Given the description of an element on the screen output the (x, y) to click on. 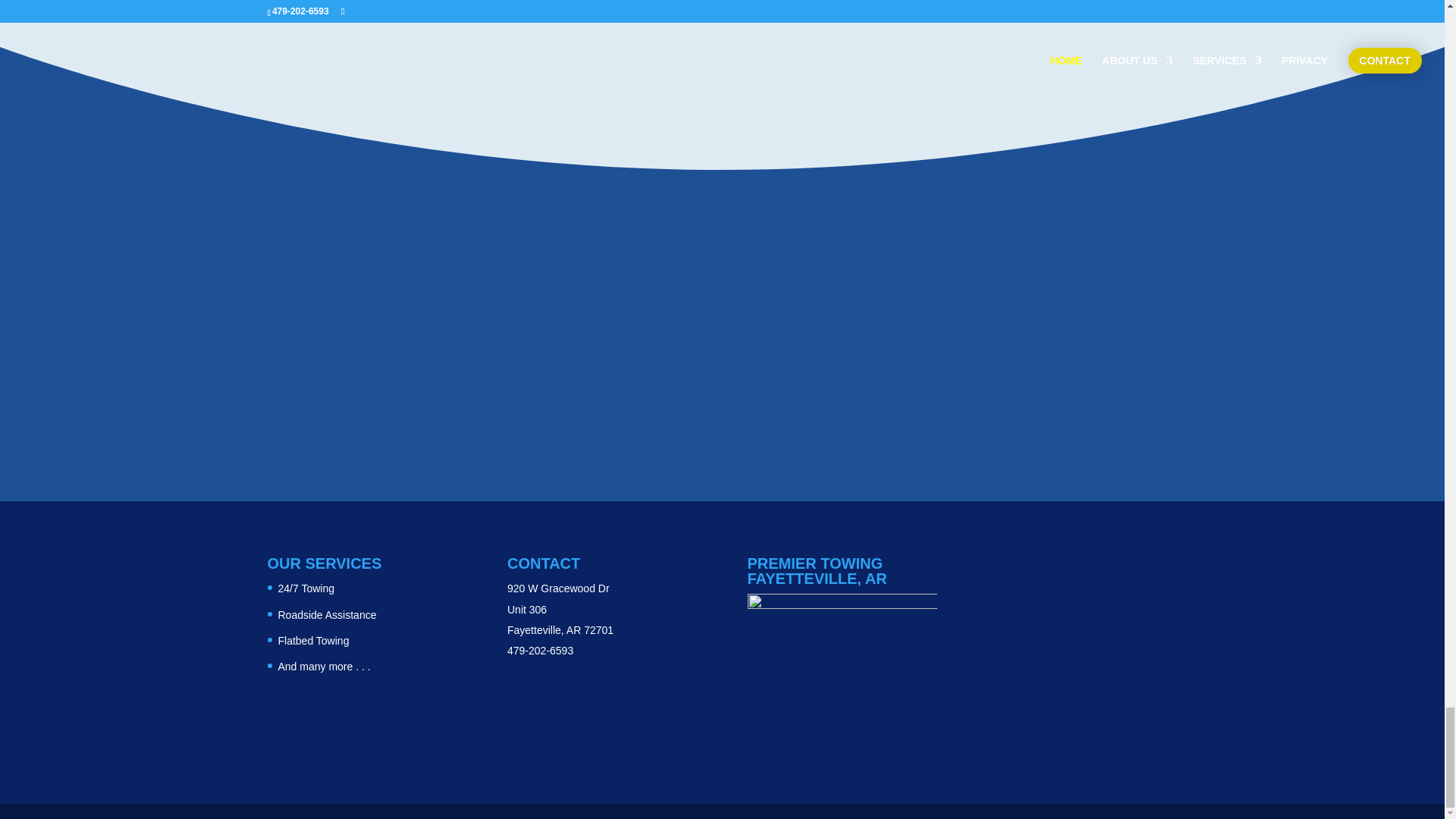
And many more . . . (323, 666)
920 W Gracewood Dr (558, 588)
Unit 306 (526, 609)
Roadside Assistance (326, 614)
Flatbed Towing (313, 640)
